Given the description of an element on the screen output the (x, y) to click on. 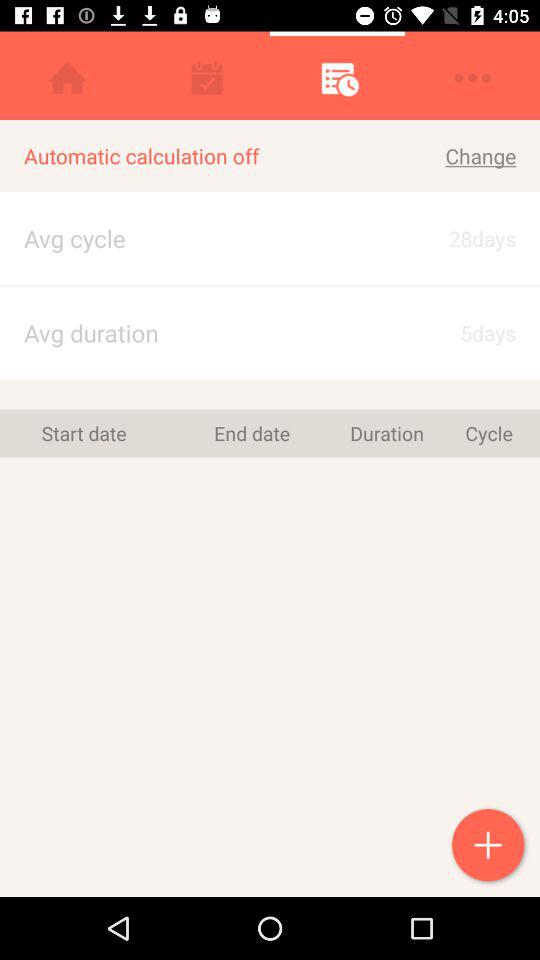
add to date (490, 847)
